Given the description of an element on the screen output the (x, y) to click on. 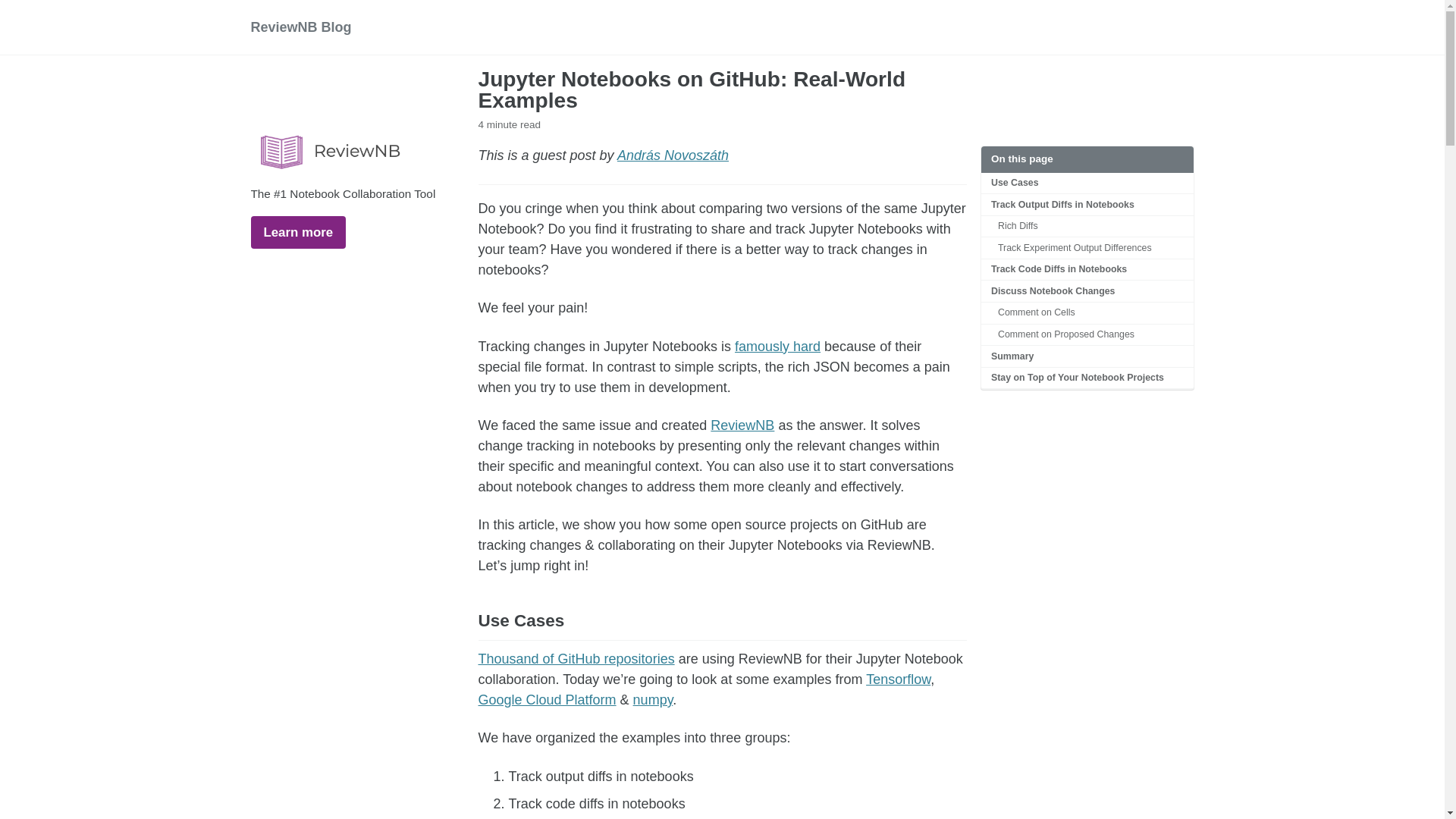
Comment on Cells (1087, 313)
Comment on Proposed Changes (1087, 335)
Discuss Notebook Changes (1087, 291)
ReviewNB (742, 425)
Track Output Diffs in Notebooks (1087, 205)
Thousand of GitHub repositories (575, 658)
Tensorflow (898, 679)
Summary (1087, 356)
numpy (652, 699)
